Given the description of an element on the screen output the (x, y) to click on. 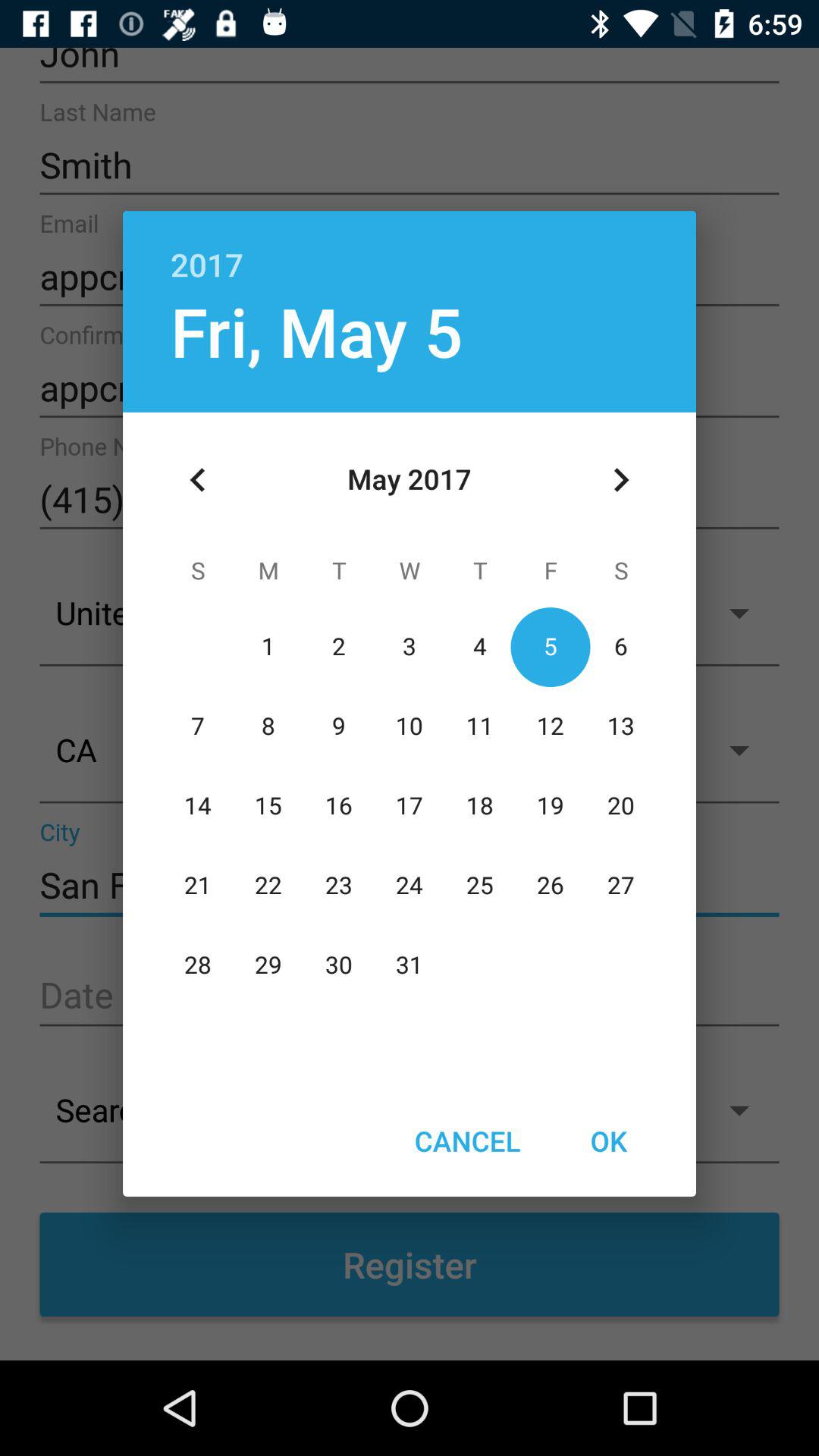
open item above fri, may 5 icon (409, 248)
